Given the description of an element on the screen output the (x, y) to click on. 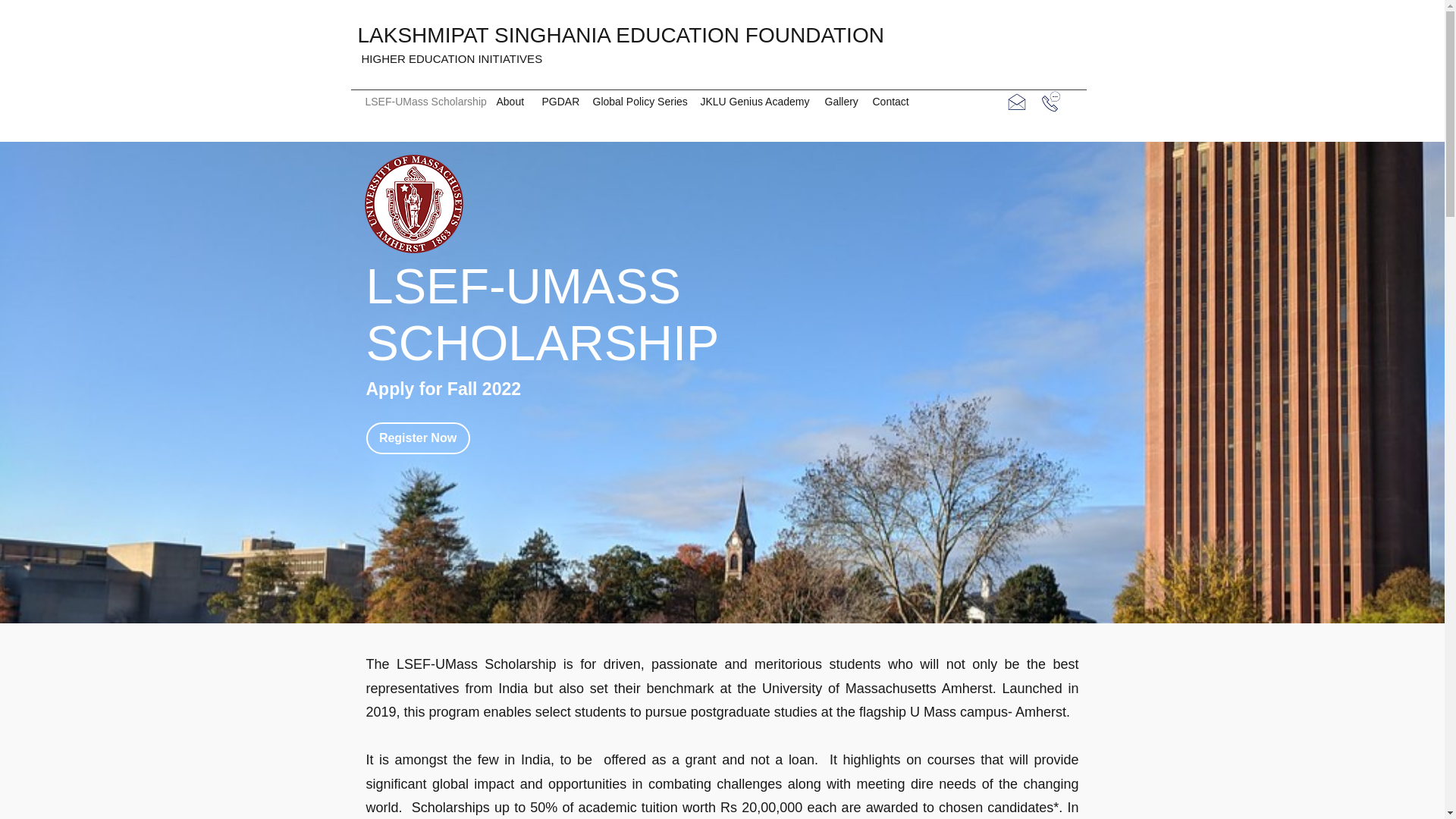
LSEF-UMass Scholarship (423, 101)
About (510, 101)
Contact (890, 101)
PGDAR (559, 101)
Gallery (840, 101)
JKLU Genius Academy (754, 101)
LAKSHMIPAT SINGHANIA EDUCATION FOUNDATION (620, 34)
Apply Now (429, 772)
Global Policy Series (639, 101)
